Given the description of an element on the screen output the (x, y) to click on. 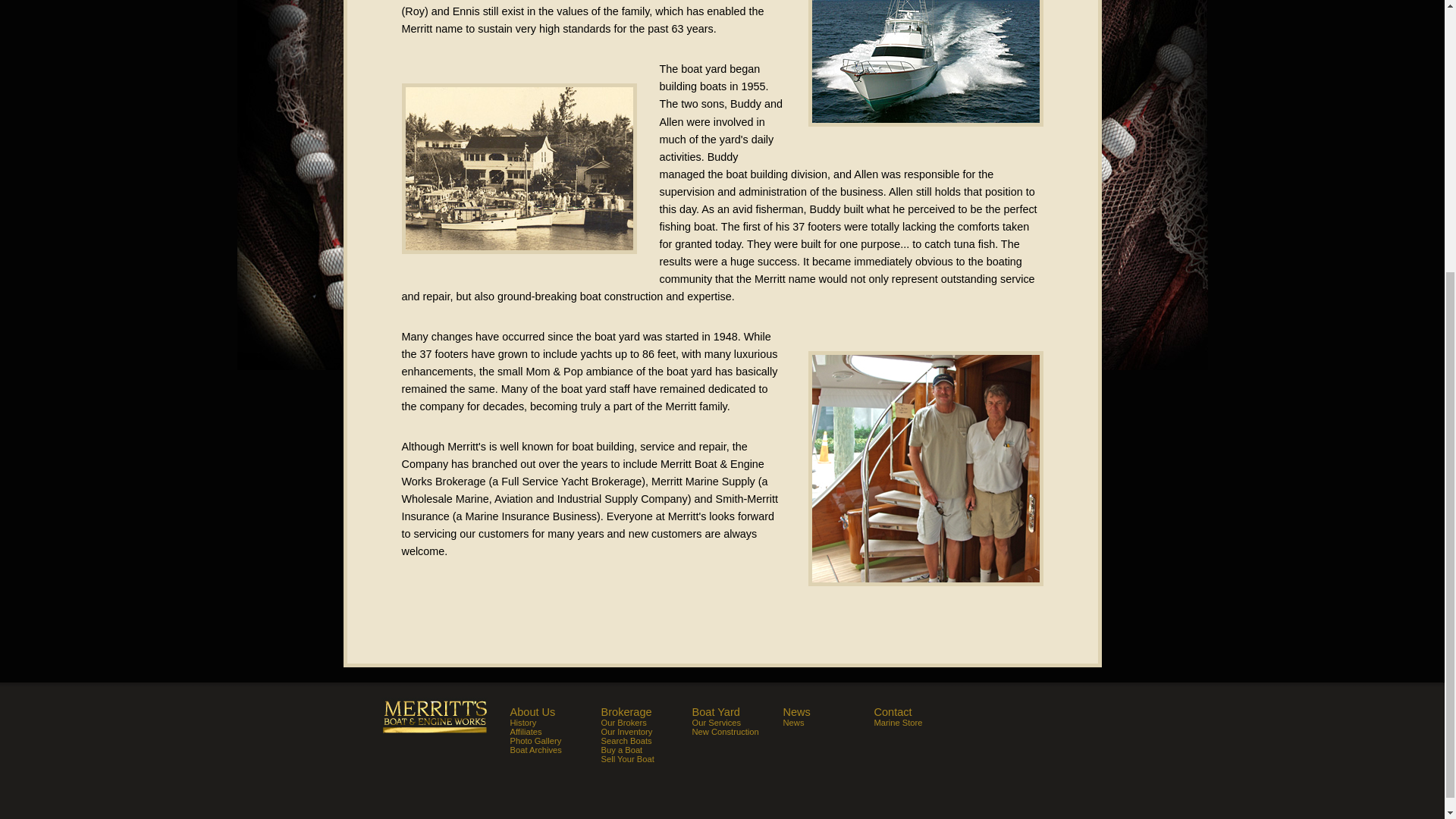
Photo Gallery (554, 740)
Our Brokers (645, 722)
About Us (554, 711)
Boat Archives (554, 749)
Contact (918, 711)
Marine Store (918, 722)
History (554, 722)
New Construction (737, 731)
Brokerage (645, 711)
Our Services (737, 722)
